Given the description of an element on the screen output the (x, y) to click on. 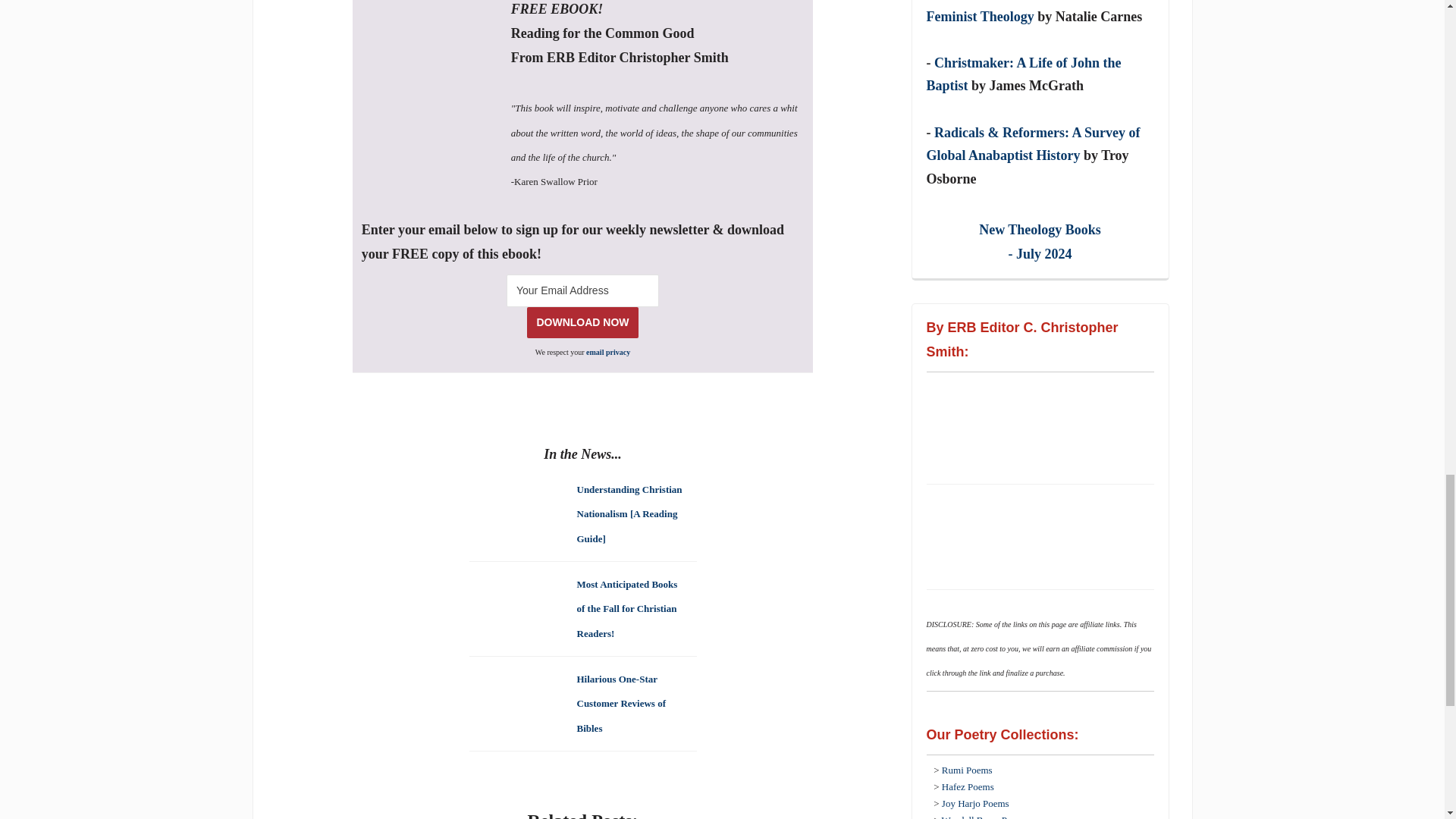
DOWNLOAD NOW (582, 322)
Hilarious One-Star Customer Reviews of Bibles (620, 702)
DOWNLOAD NOW (582, 322)
Your Email Address (582, 290)
Privacy Policy (608, 352)
email privacy (608, 352)
Most Anticipated Books of the Fall for Christian Readers! (626, 607)
